Given the description of an element on the screen output the (x, y) to click on. 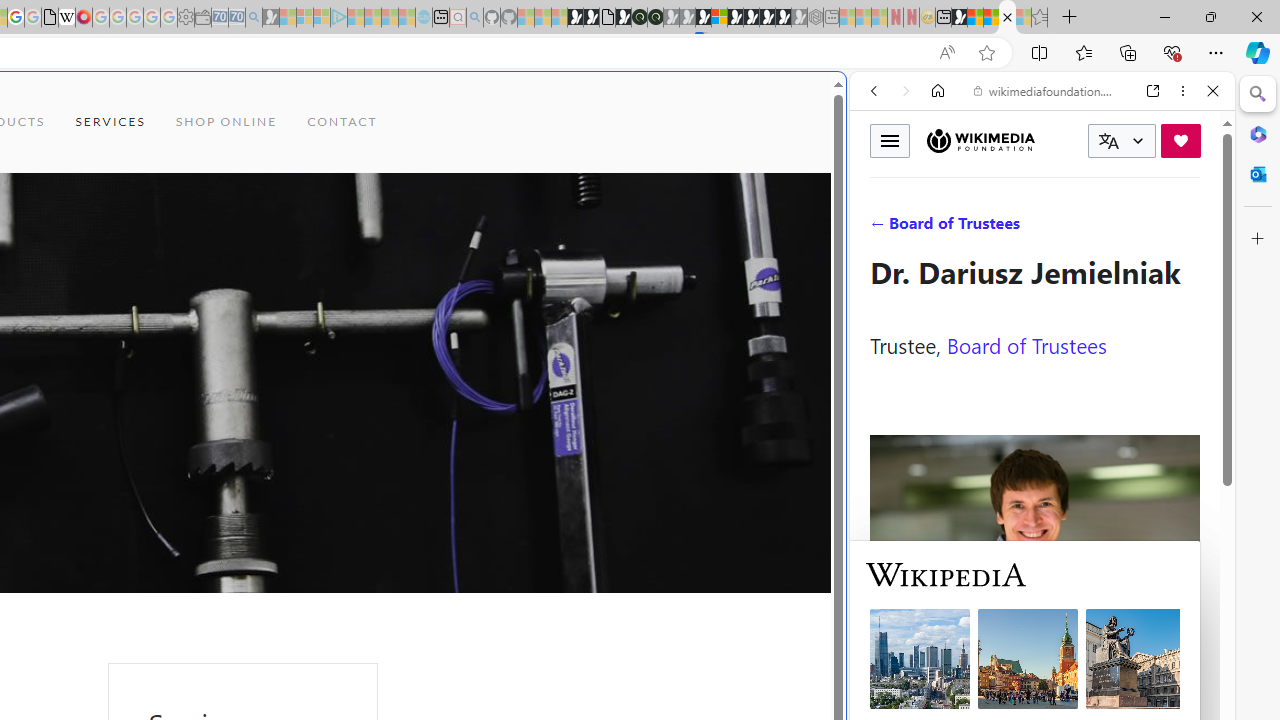
Web scope (882, 180)
New tab - Sleeping (831, 17)
Settings - Sleeping (185, 17)
Play Cave FRVR in your browser | Games from Microsoft Start (343, 426)
